Given the description of an element on the screen output the (x, y) to click on. 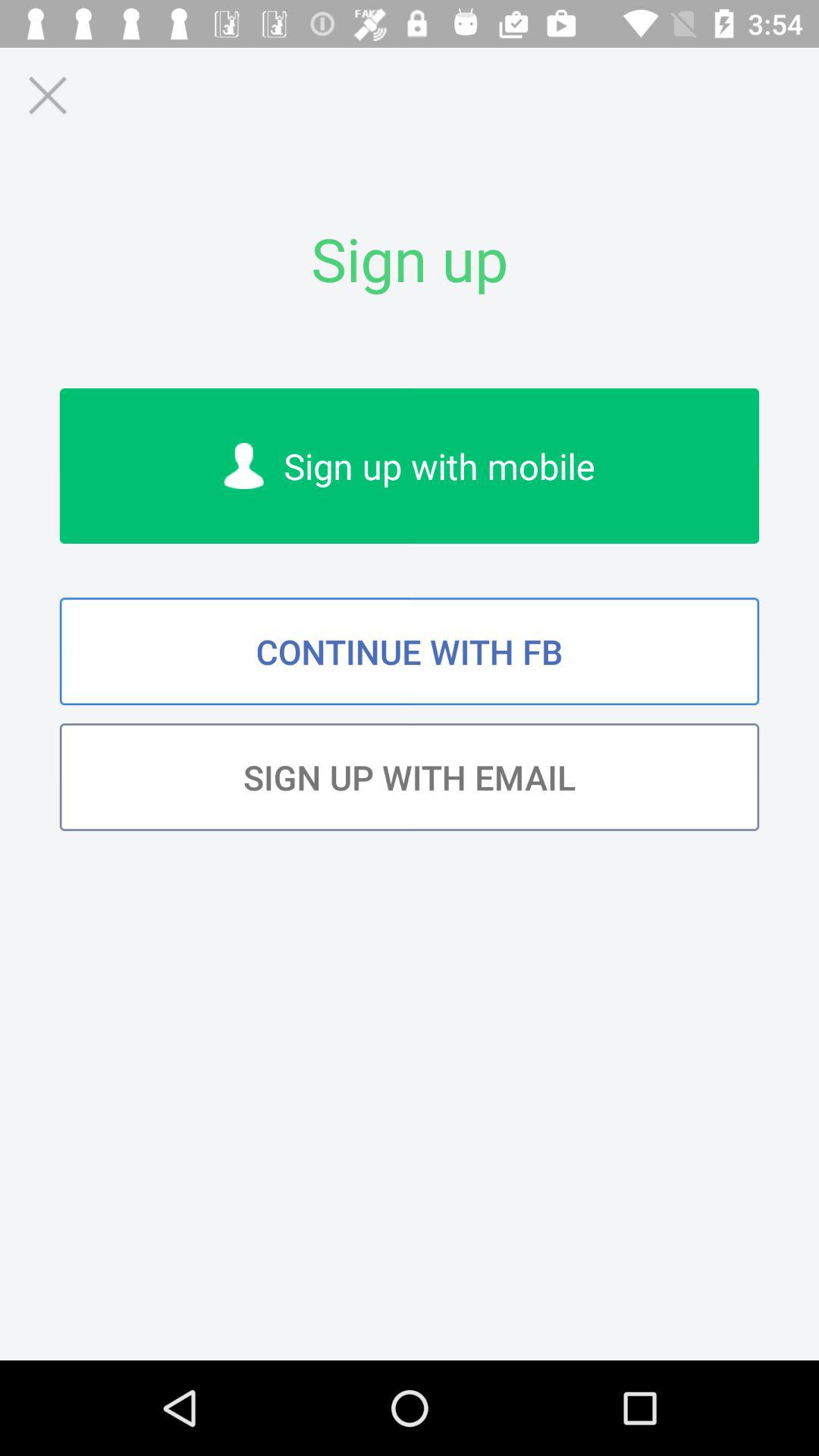
close sign-up screen (47, 95)
